Given the description of an element on the screen output the (x, y) to click on. 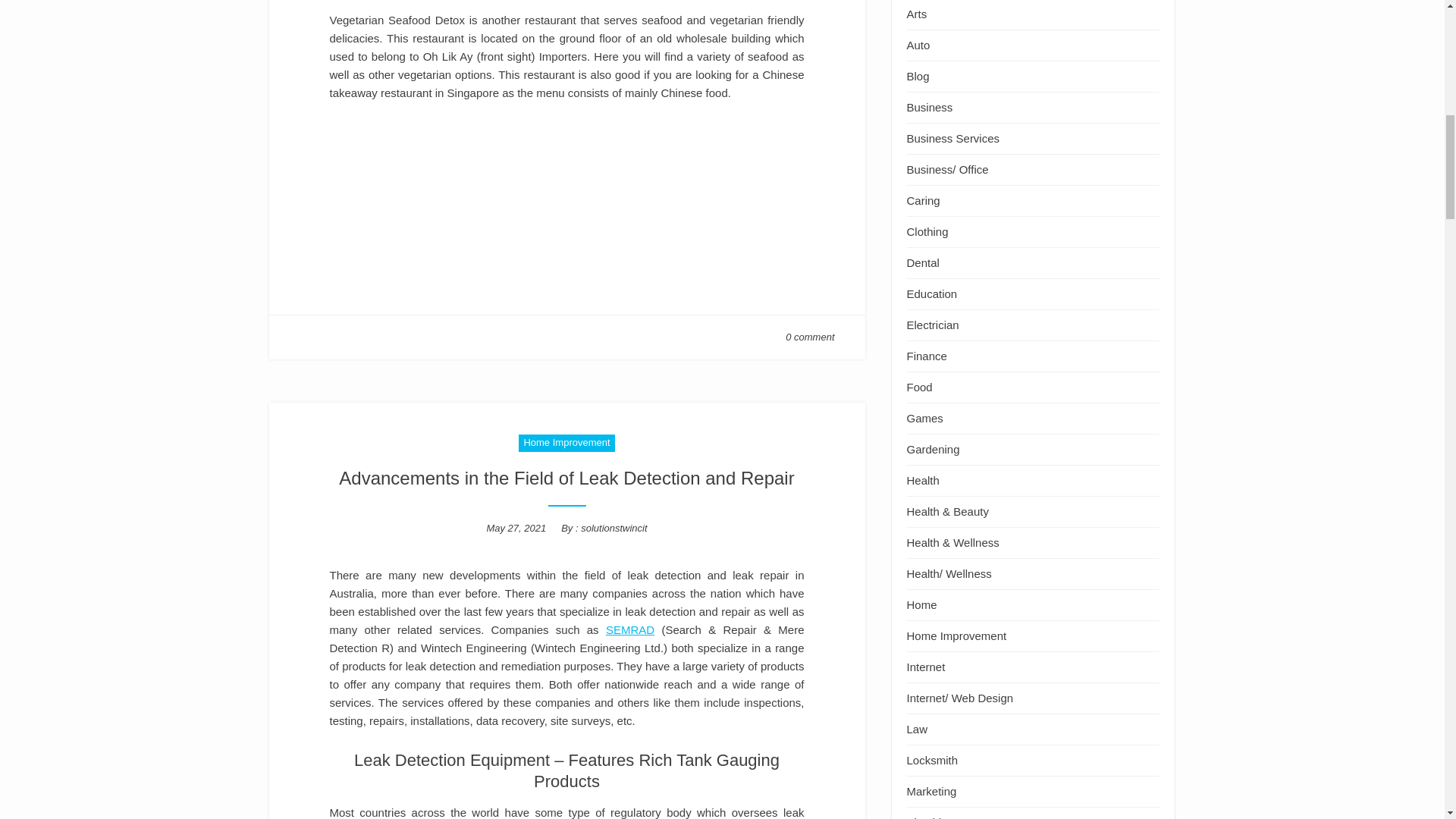
May 27, 2021 (516, 527)
0 comment (810, 337)
SEMRAD (629, 629)
Advancements in the Field of Leak Detection and Repair (566, 477)
solutionstwincit (613, 527)
Home Improvement (566, 443)
